Given the description of an element on the screen output the (x, y) to click on. 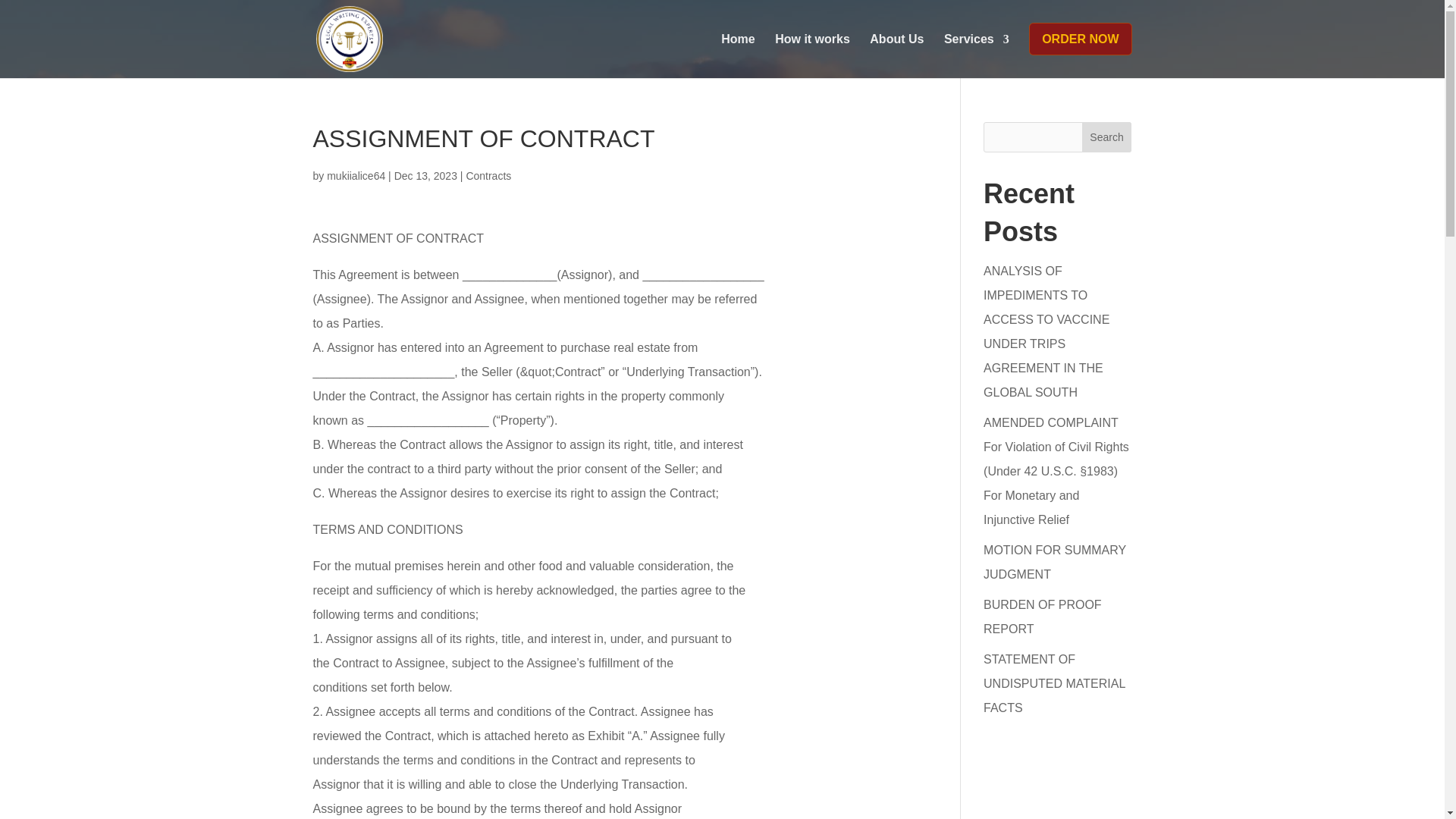
How it works (812, 50)
mukiialice64 (355, 175)
MOTION FOR SUMMARY JUDGMENT (1054, 561)
Contracts (488, 175)
Services (976, 50)
Search (1106, 137)
Posts by mukiialice64 (355, 175)
About Us (896, 50)
Home (737, 50)
STATEMENT OF UNDISPUTED MATERIAL FACTS (1054, 683)
BURDEN OF PROOF REPORT (1043, 616)
ORDER NOW (1080, 49)
